Given the description of an element on the screen output the (x, y) to click on. 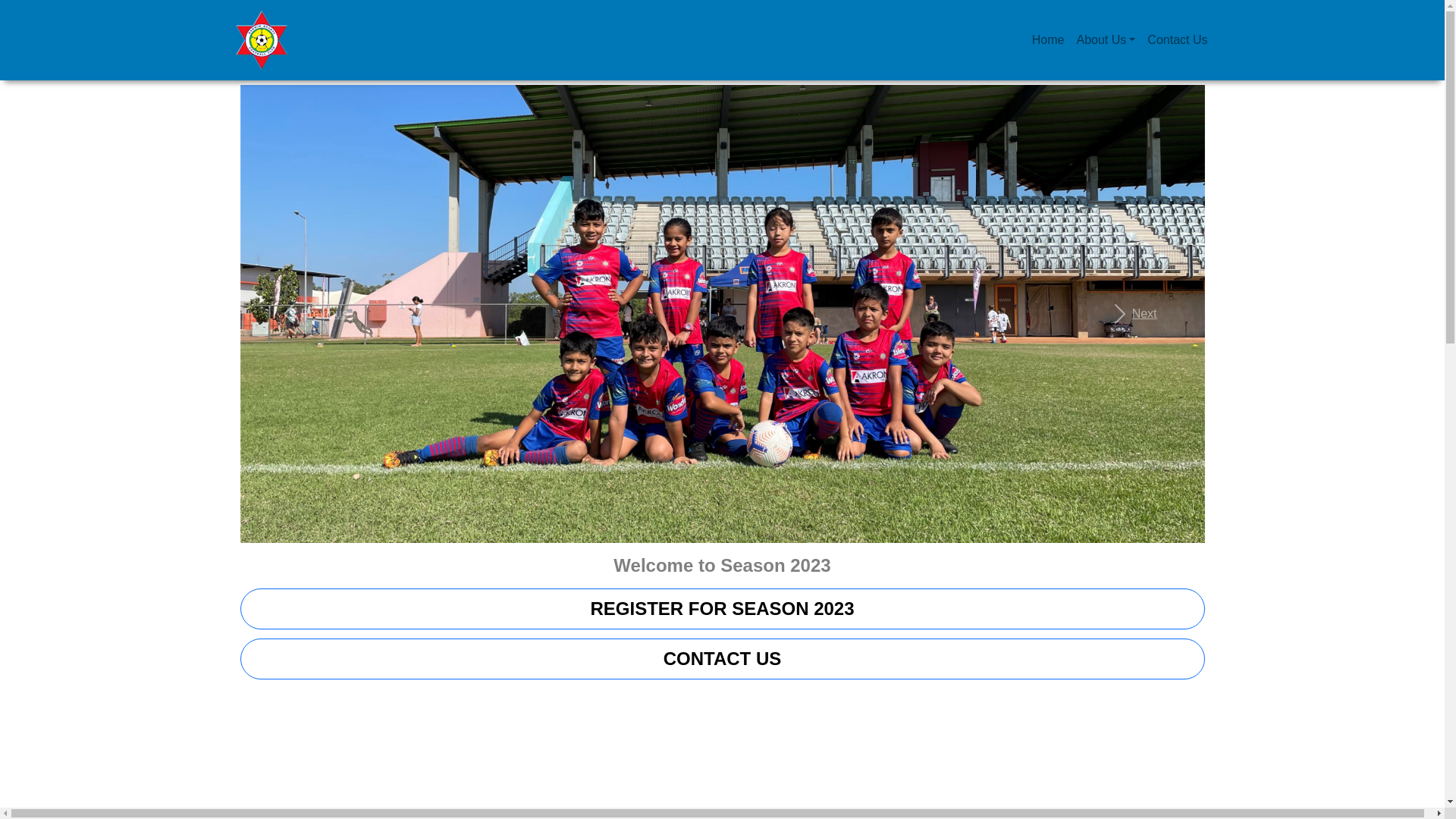
Previous Element type: text (311, 322)
Contact Us Element type: text (1177, 40)
About Us Element type: text (1105, 40)
Home Element type: text (1048, 40)
CONTACT US Element type: text (721, 675)
REGISTER FOR SEASON 2023 Element type: text (721, 625)
Next Element type: text (1132, 322)
